Given the description of an element on the screen output the (x, y) to click on. 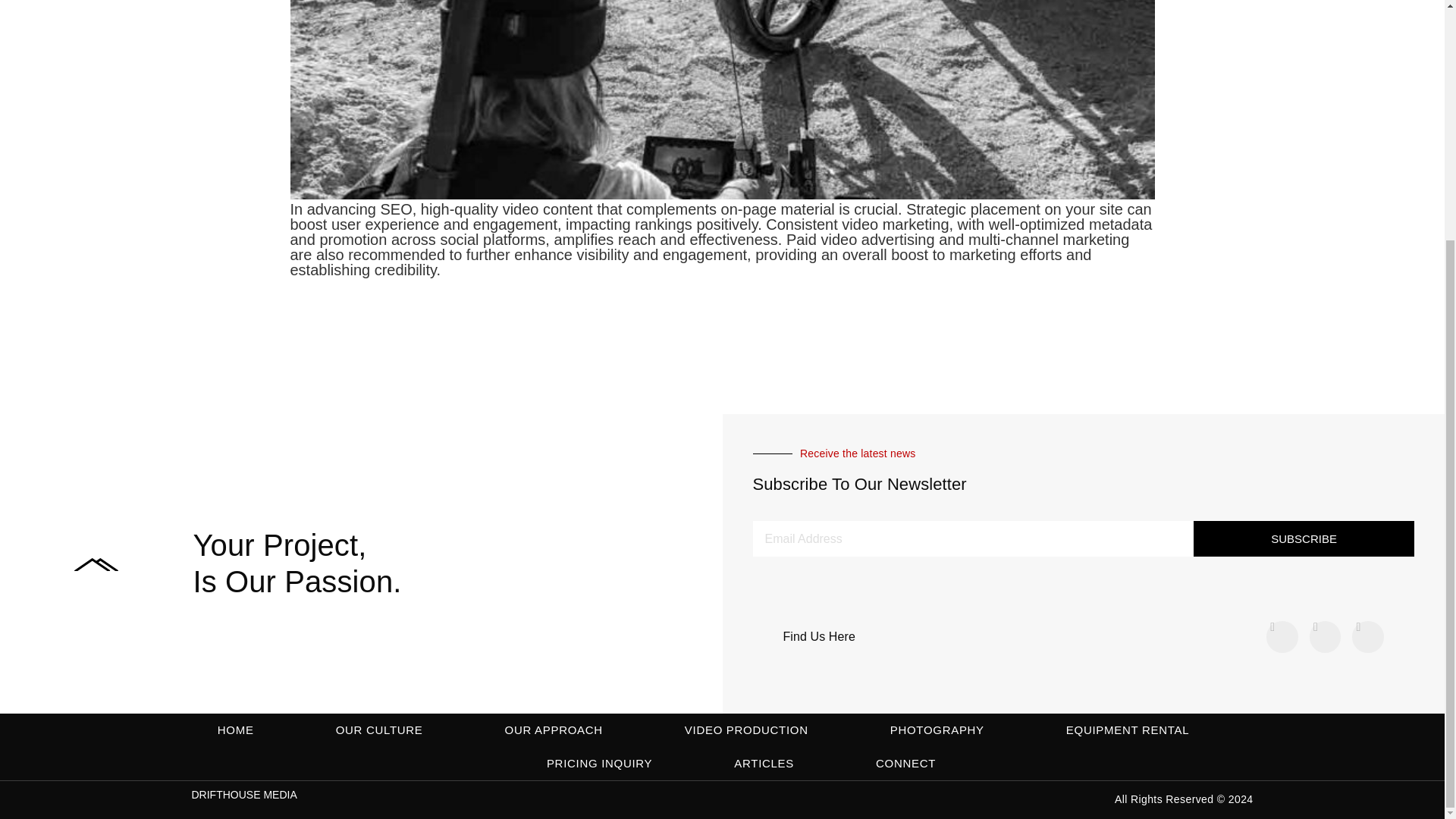
OUR CULTURE (379, 729)
EQUIPMENT RENTAL (1127, 729)
ARTICLES (763, 763)
PRICING INQUIRY (599, 763)
VIDEO PRODUCTION (745, 729)
PHOTOGRAPHY (936, 729)
HOME (235, 729)
CONNECT (905, 763)
SUBSCRIBE (1303, 538)
OUR APPROACH (553, 729)
